Given the description of an element on the screen output the (x, y) to click on. 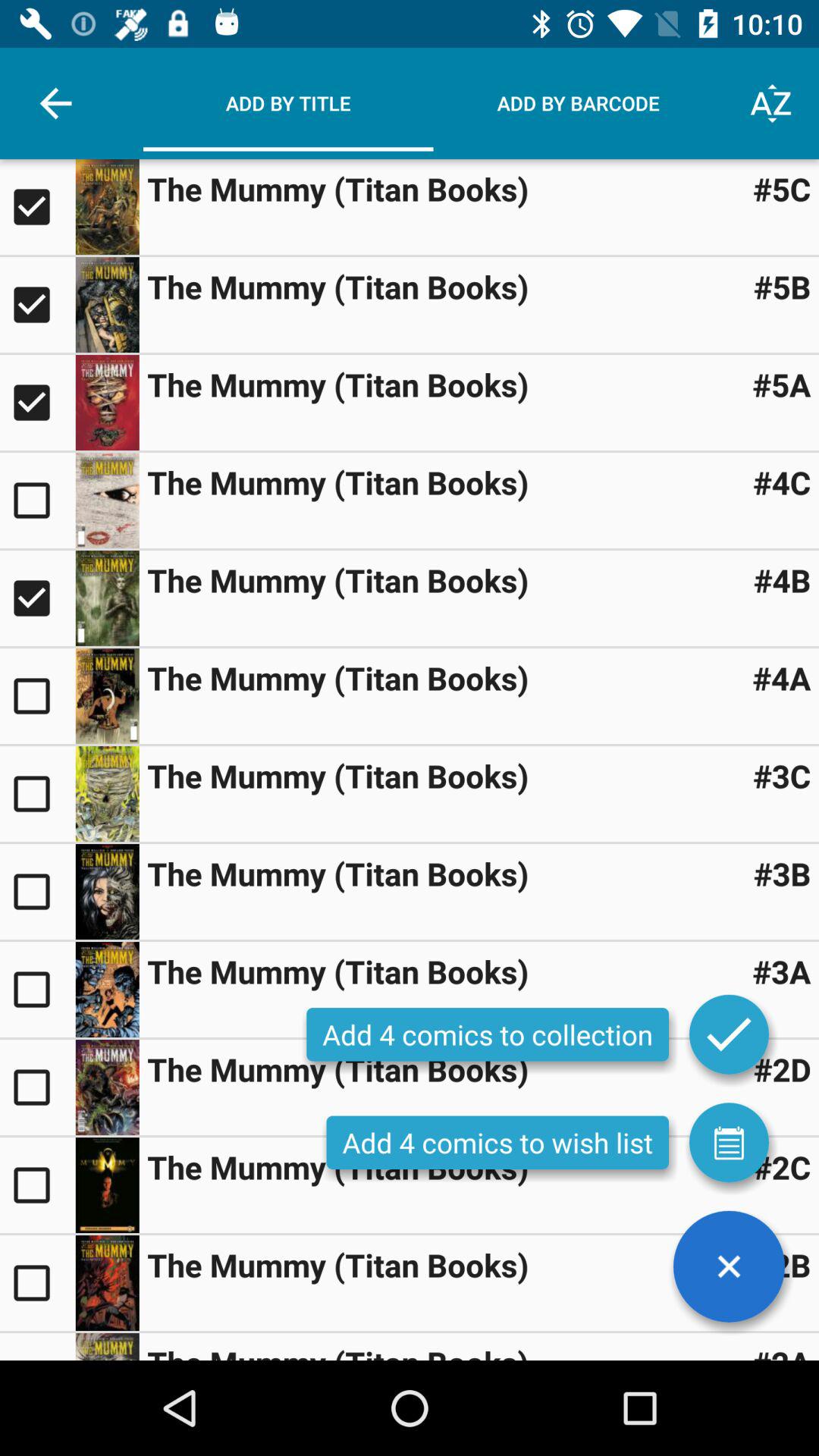
select item next to the add 4 comics item (729, 1142)
